Given the description of an element on the screen output the (x, y) to click on. 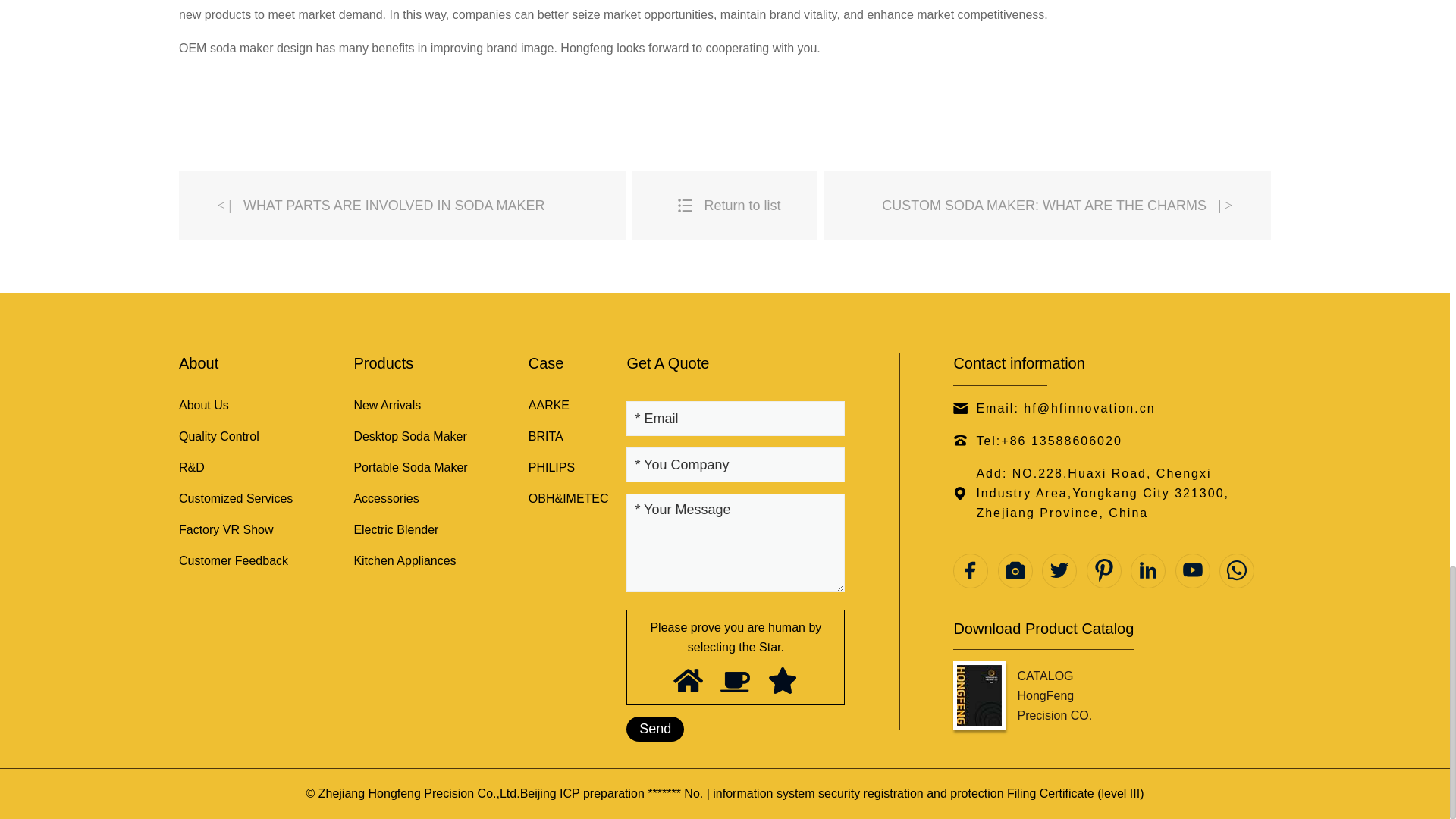
facebook (970, 570)
twitter (1059, 570)
instagram (1014, 570)
Send (655, 729)
youtube (1191, 570)
pinterest (1103, 570)
whatsapp (1236, 570)
linkedin (1148, 570)
